Given the description of an element on the screen output the (x, y) to click on. 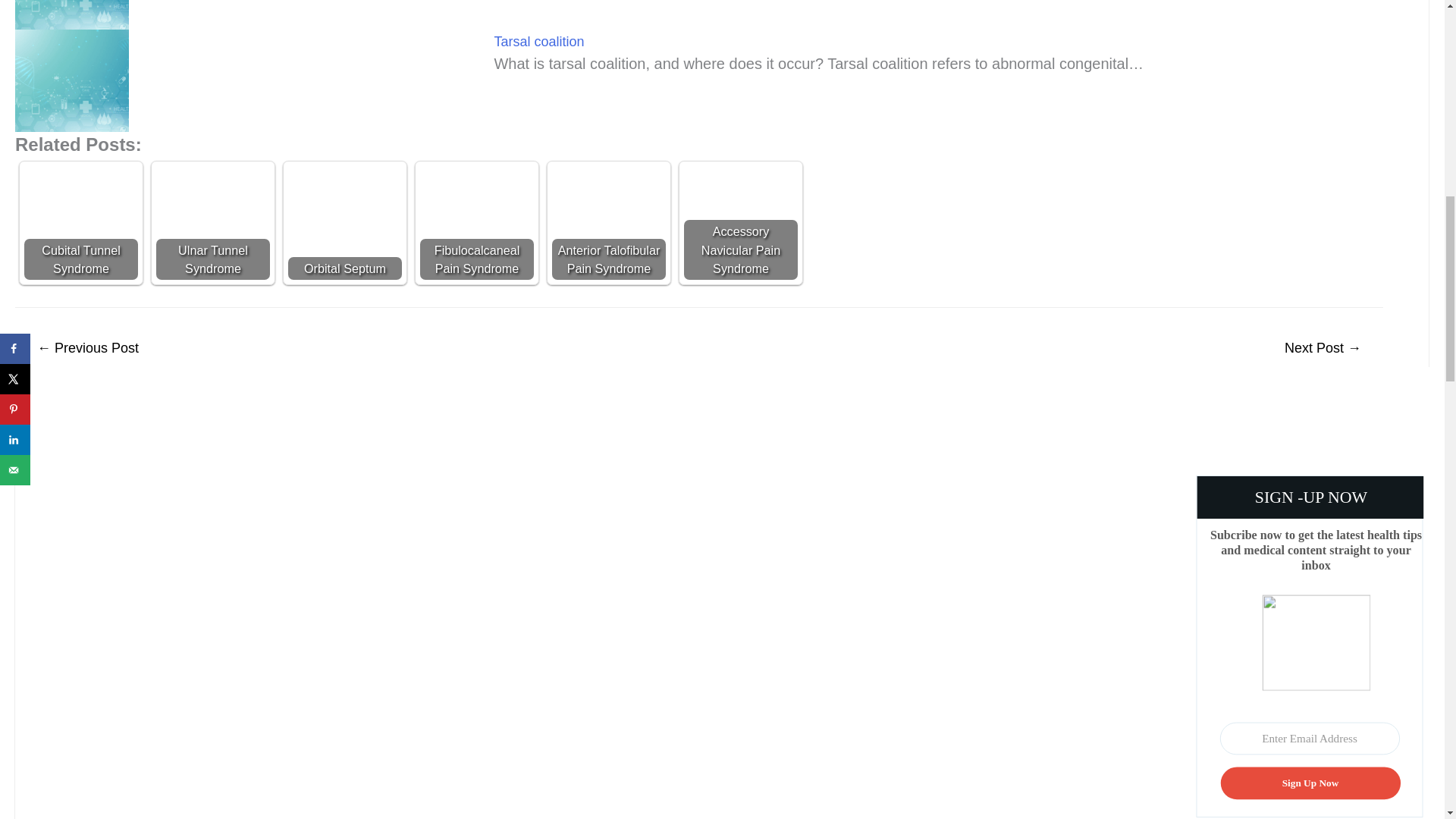
Cubital Tunnel Syndrome (81, 223)
Ulnar Tunnel Syndrome (212, 223)
Tarsal coalition (538, 41)
